Given the description of an element on the screen output the (x, y) to click on. 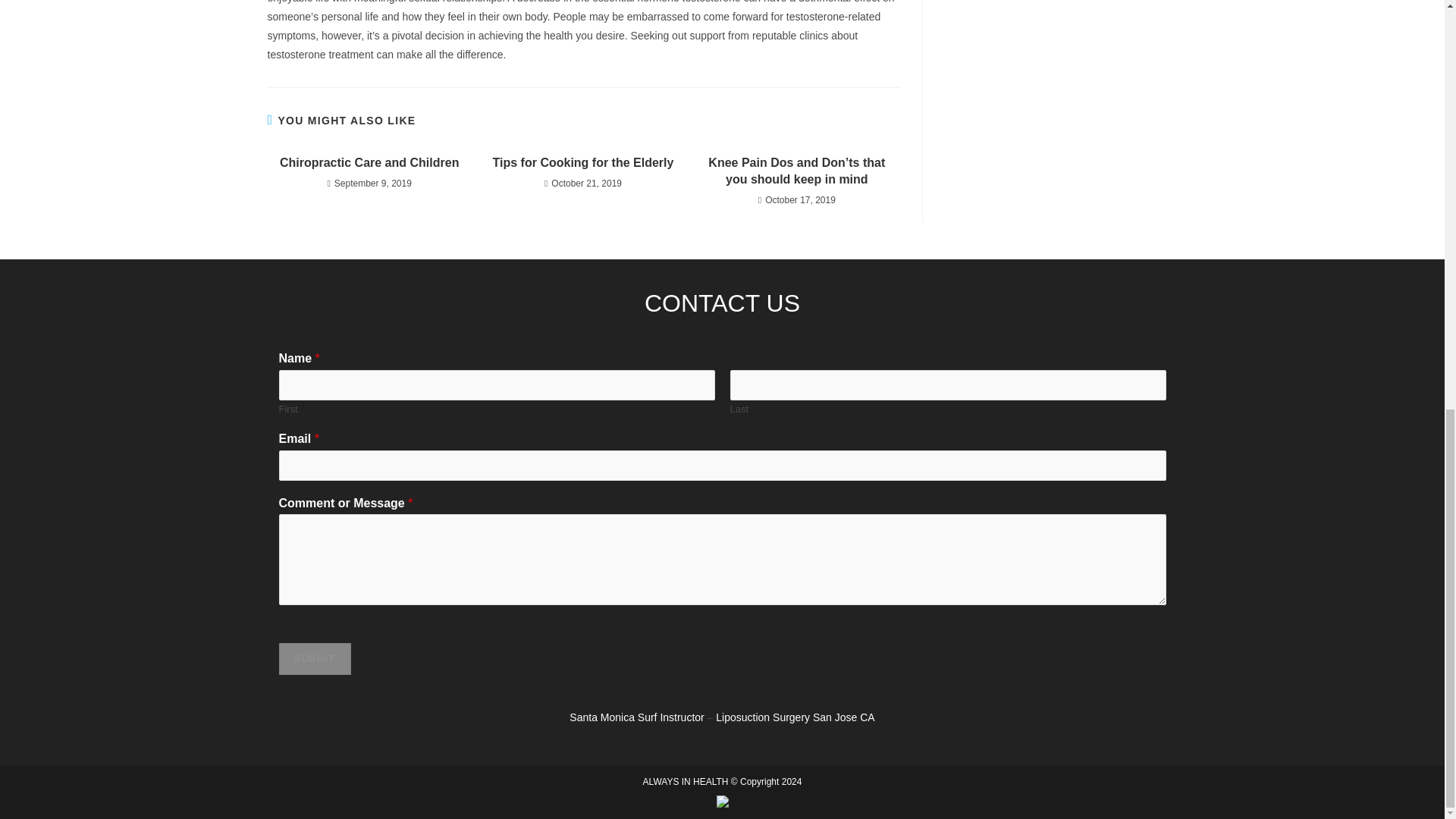
Liposuction Surgery San Jose CA (795, 717)
Santa Monica Surf Instructor (636, 717)
SUBMIT (314, 658)
Chiropractic Care and Children (368, 162)
Tips for Cooking for the Elderly (582, 162)
